Given the description of an element on the screen output the (x, y) to click on. 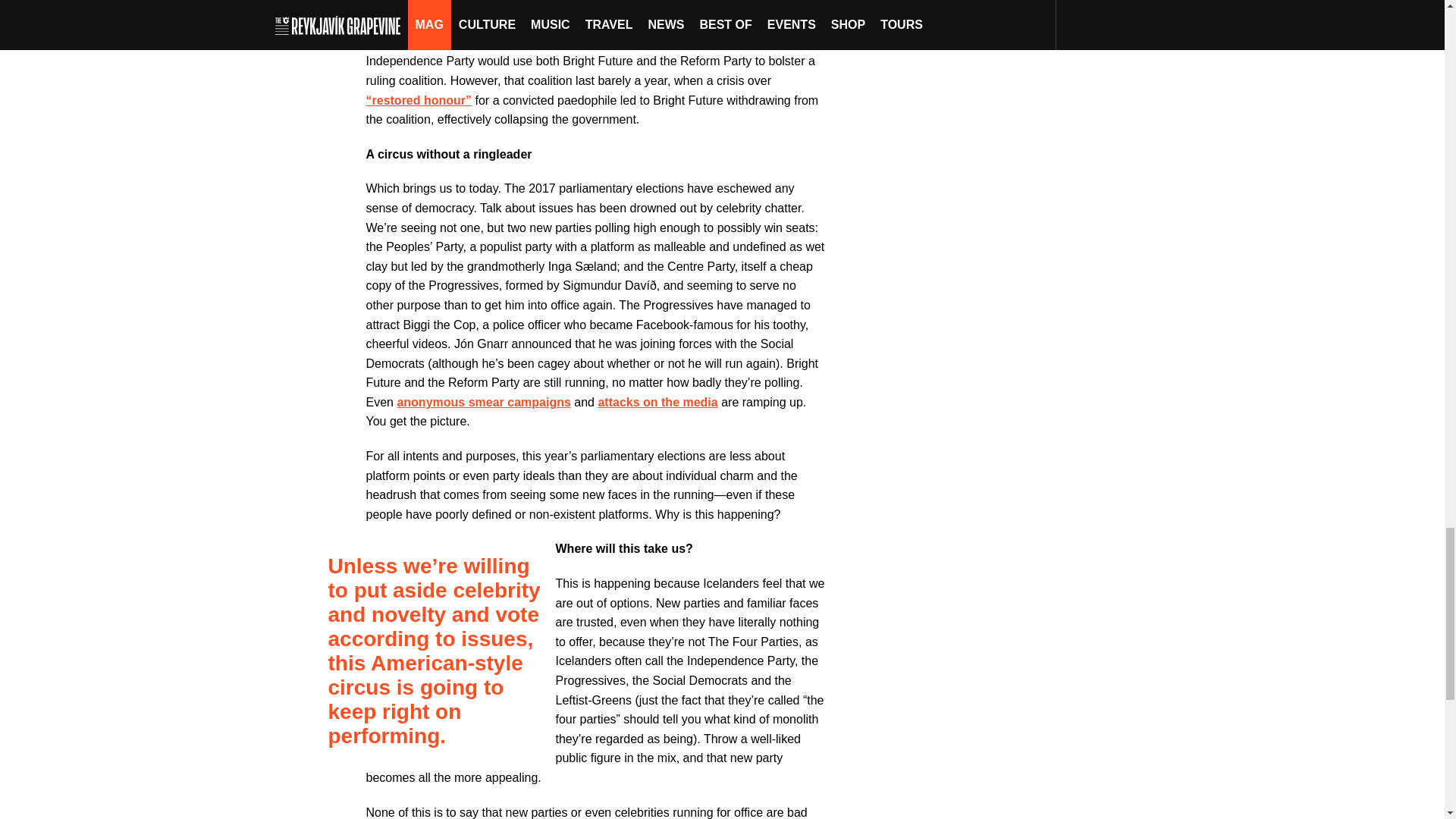
anonymous smear campaigns (483, 401)
attacks on the media (656, 401)
